Given the description of an element on the screen output the (x, y) to click on. 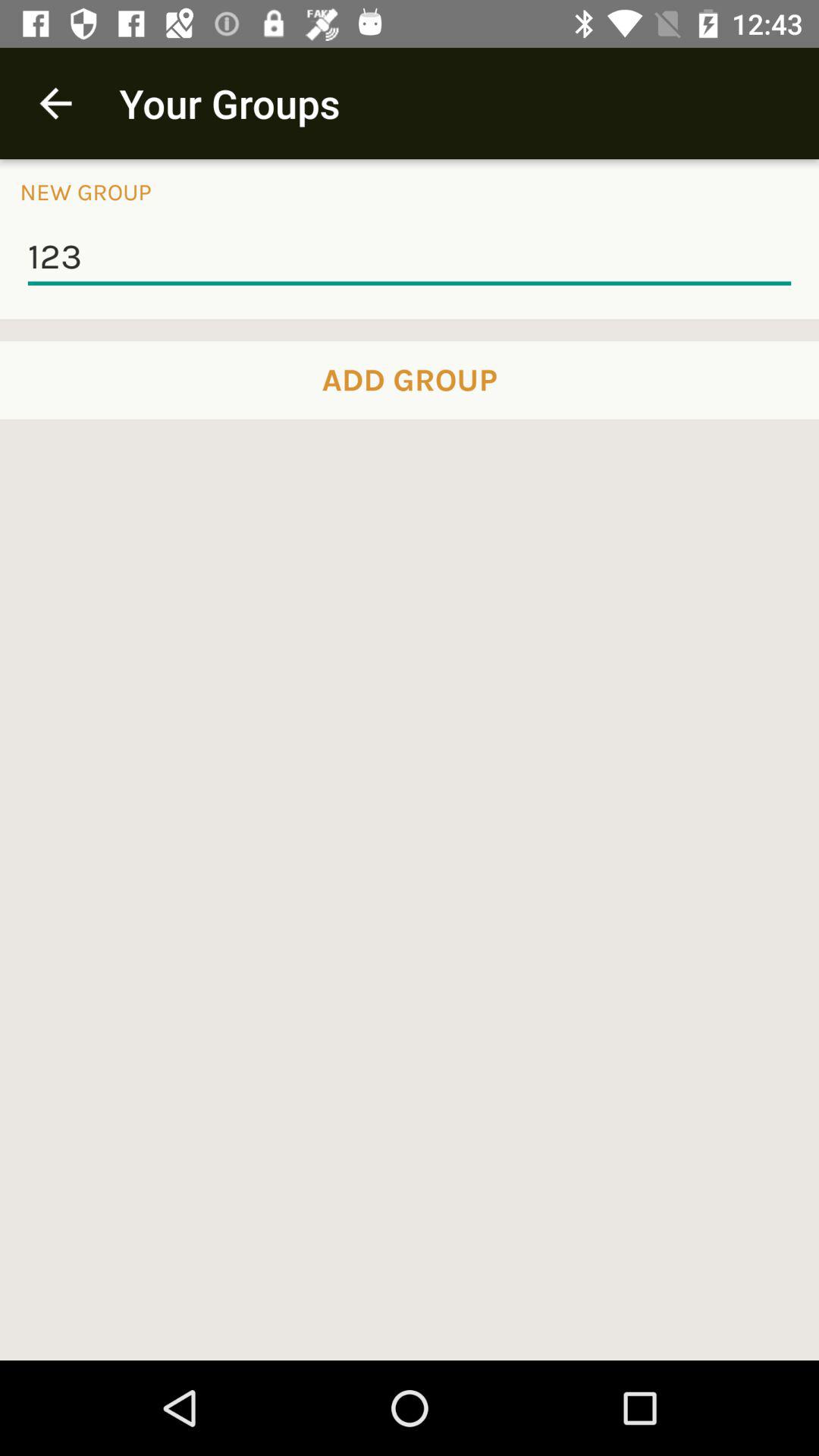
choose icon to the left of the your groups app (55, 103)
